Given the description of an element on the screen output the (x, y) to click on. 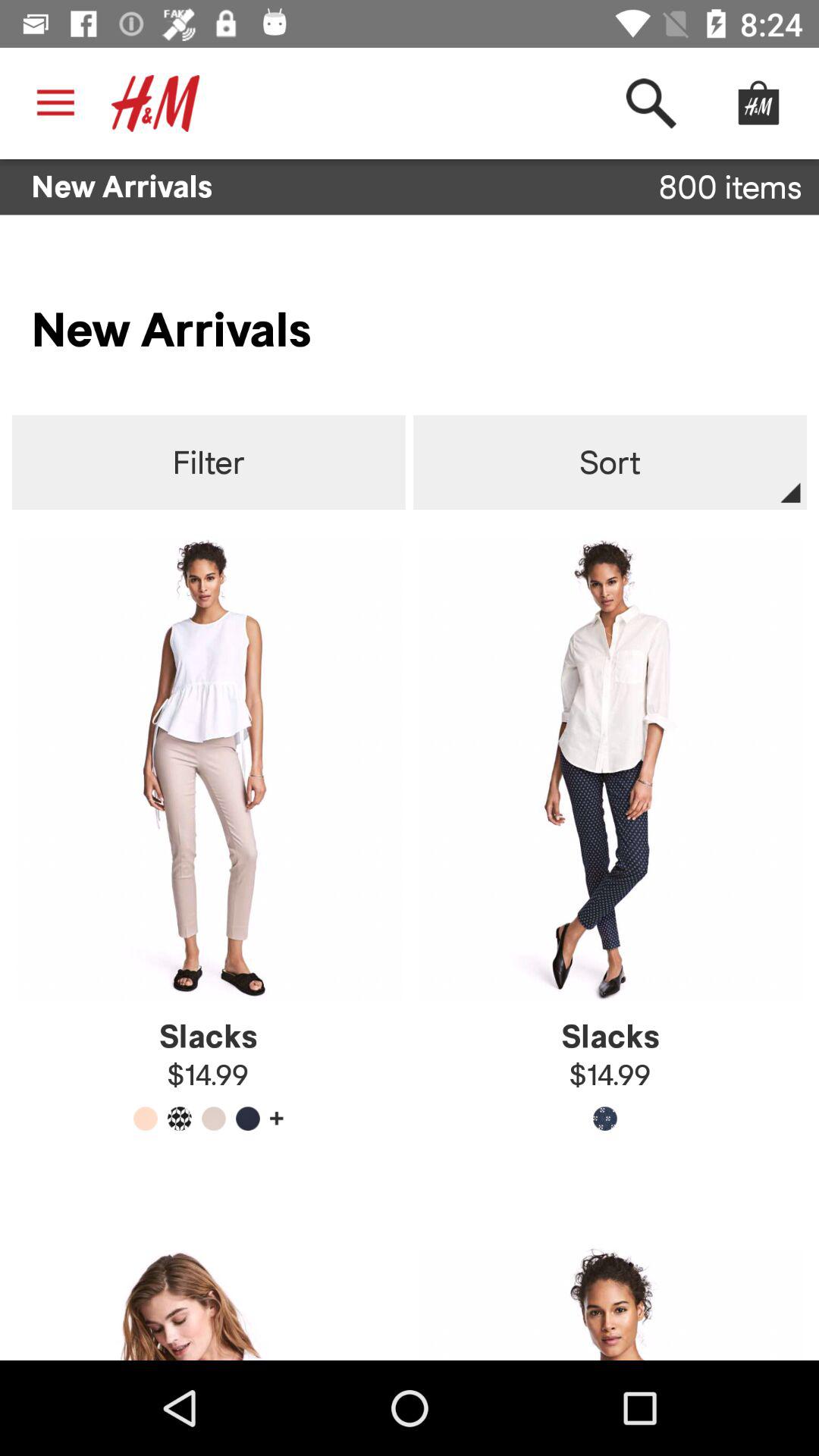
select the hm icon at top left corner (155, 103)
click on the hm icon at the top right corner (758, 103)
select the image which is below the sort button (610, 768)
click on the image at the bottom left corner (208, 1303)
select the third color below the first image (213, 1118)
select the text left to filter (208, 462)
